Given the description of an element on the screen output the (x, y) to click on. 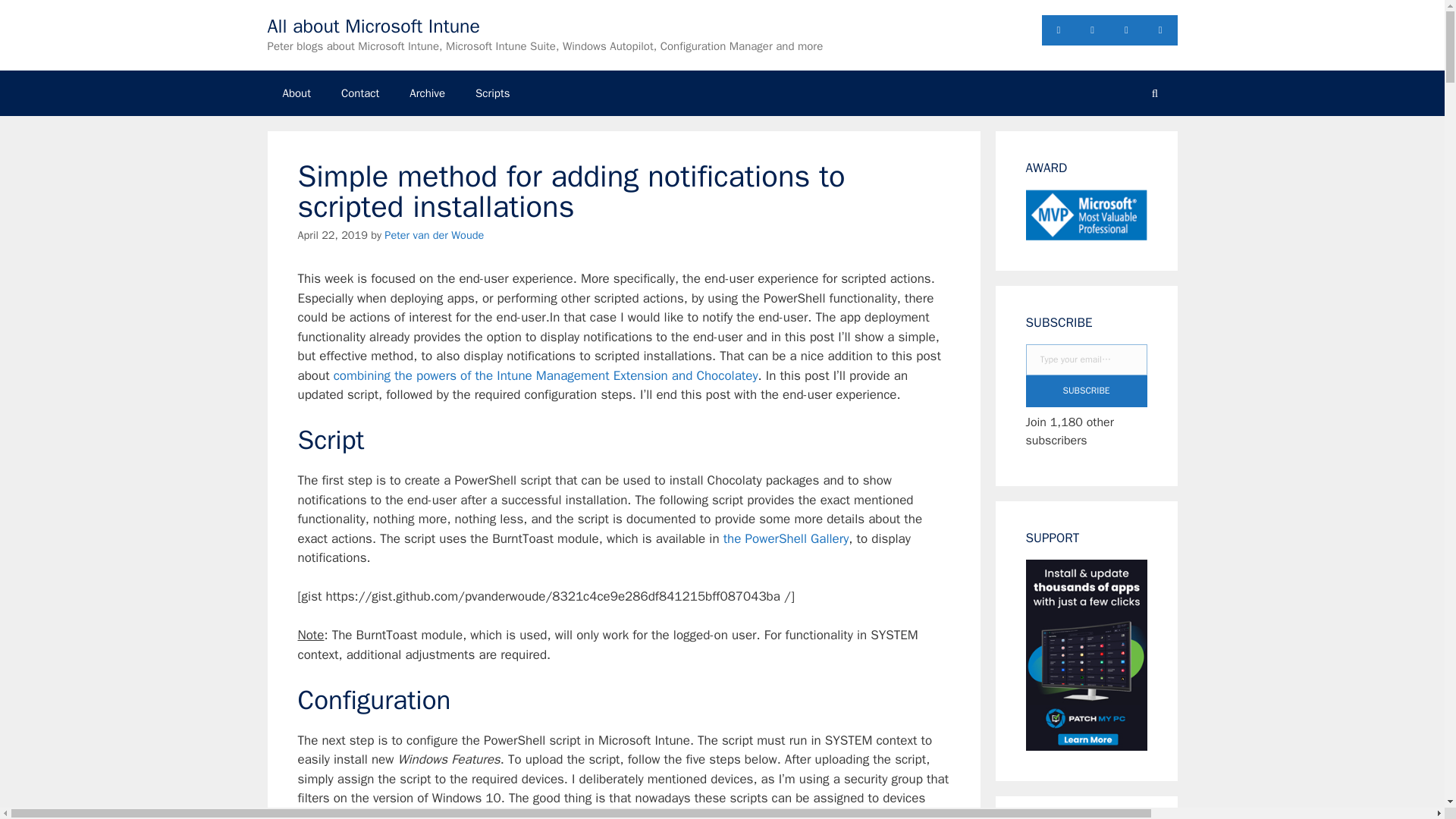
Scripts (492, 92)
Contact (360, 92)
the PowerShell Gallery (785, 538)
Archive (427, 92)
About (295, 92)
All about Microsoft Intune (373, 25)
View all posts by Peter van der Woude (433, 234)
Please fill in this field. (1086, 359)
Peter van der Woude (433, 234)
